Given the description of an element on the screen output the (x, y) to click on. 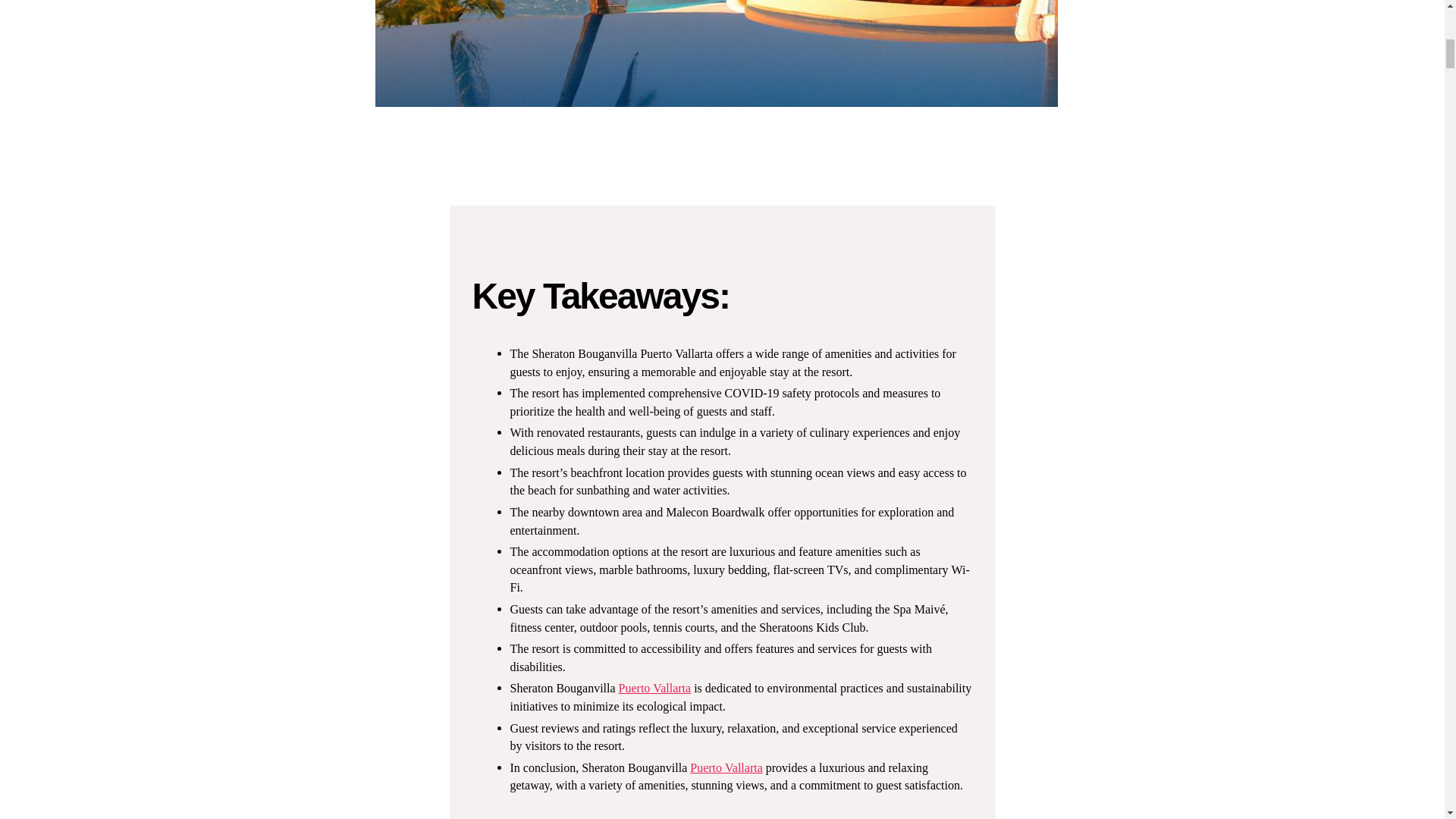
Puerto Vallarta (654, 688)
Sheraton Bouganvilla Puerto Vallarta (716, 53)
Puerto Vallarta (726, 767)
